Given the description of an element on the screen output the (x, y) to click on. 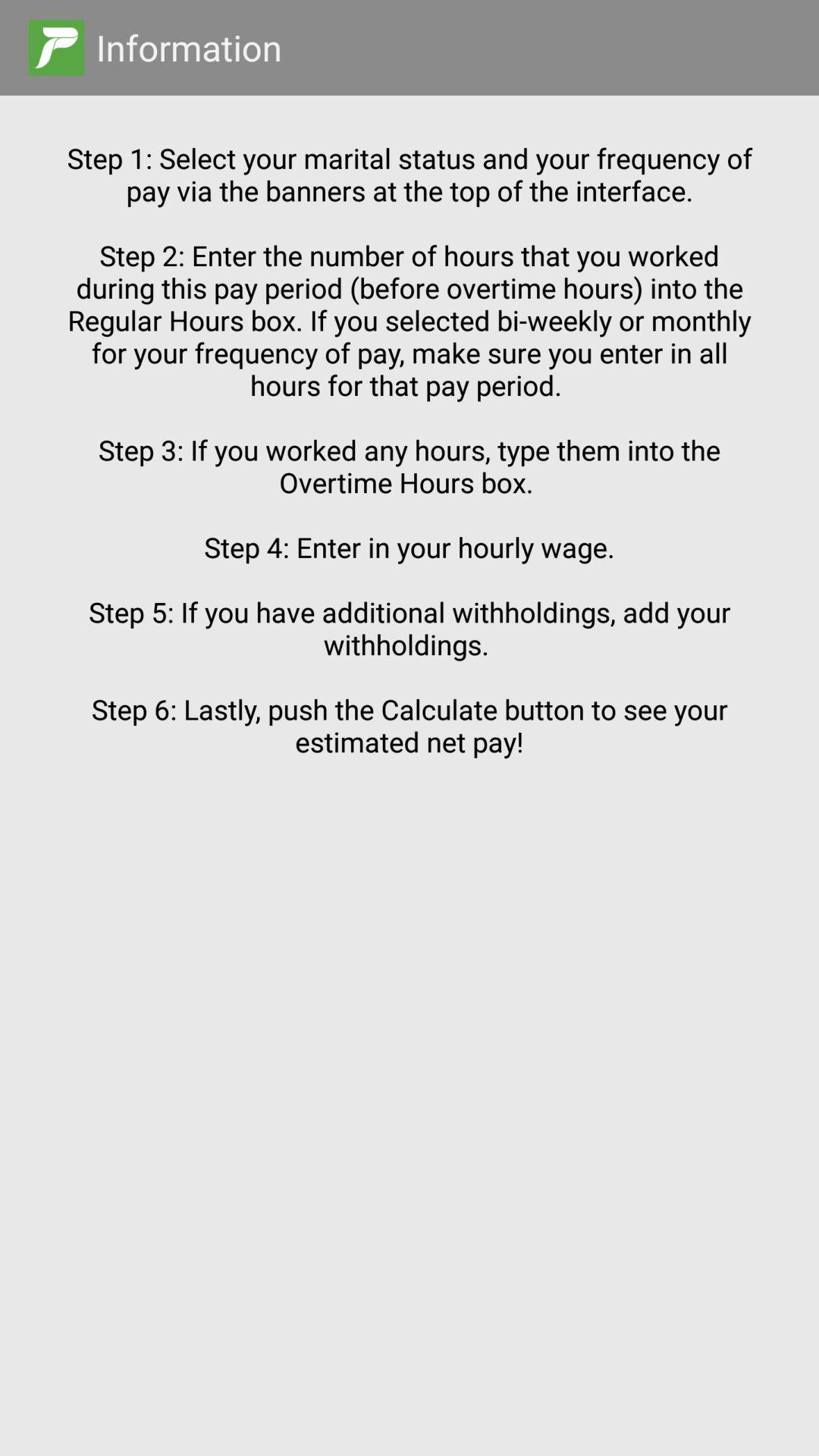
swipe until step 1 select app (409, 747)
